Given the description of an element on the screen output the (x, y) to click on. 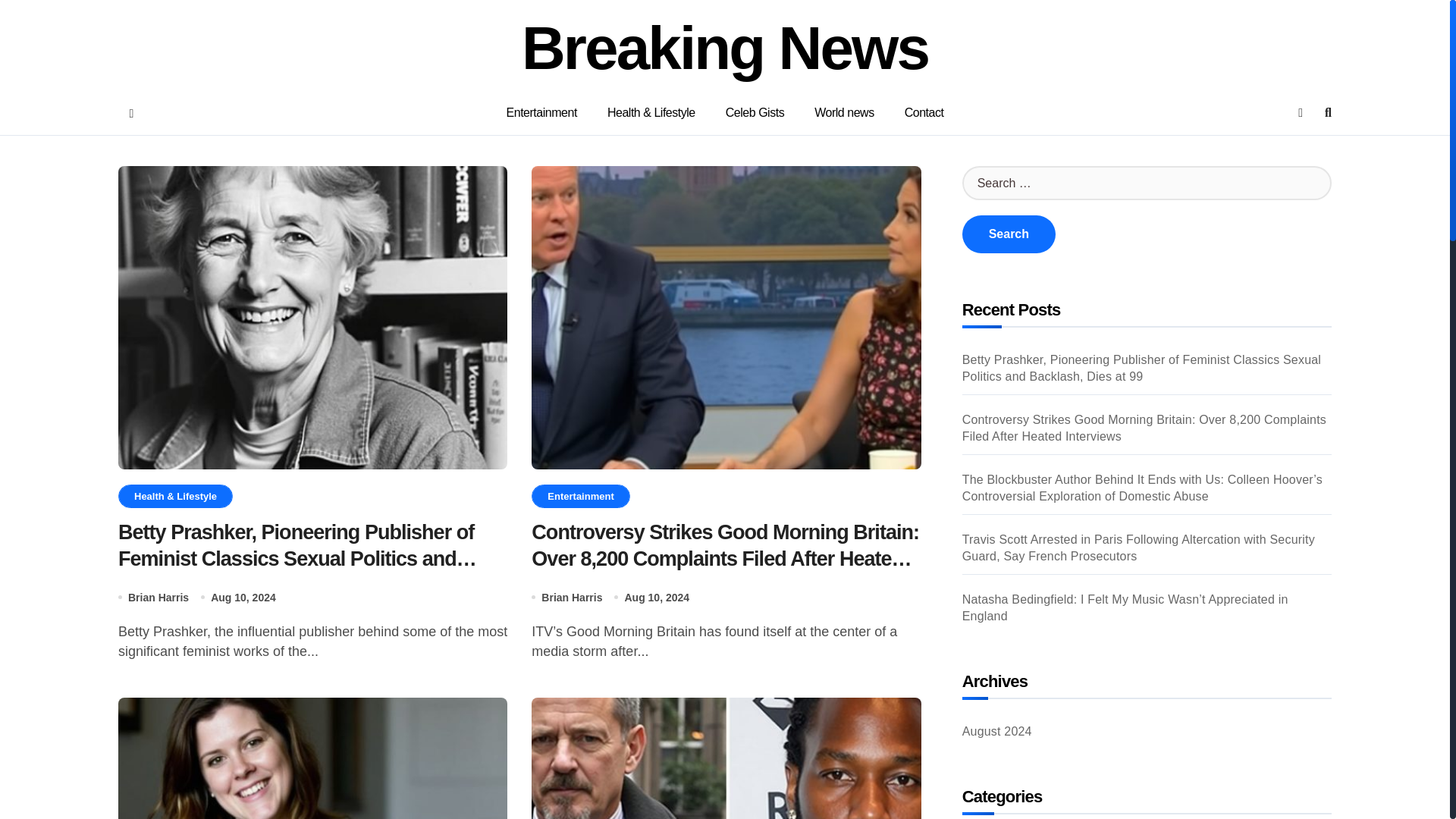
Celeb Gists (754, 112)
World news (844, 112)
Search (1008, 234)
Entertainment (579, 495)
Contact (924, 112)
Contact (924, 112)
World news (844, 112)
Aug 10, 2024 (656, 597)
Brian Harris (158, 597)
